Given the description of an element on the screen output the (x, y) to click on. 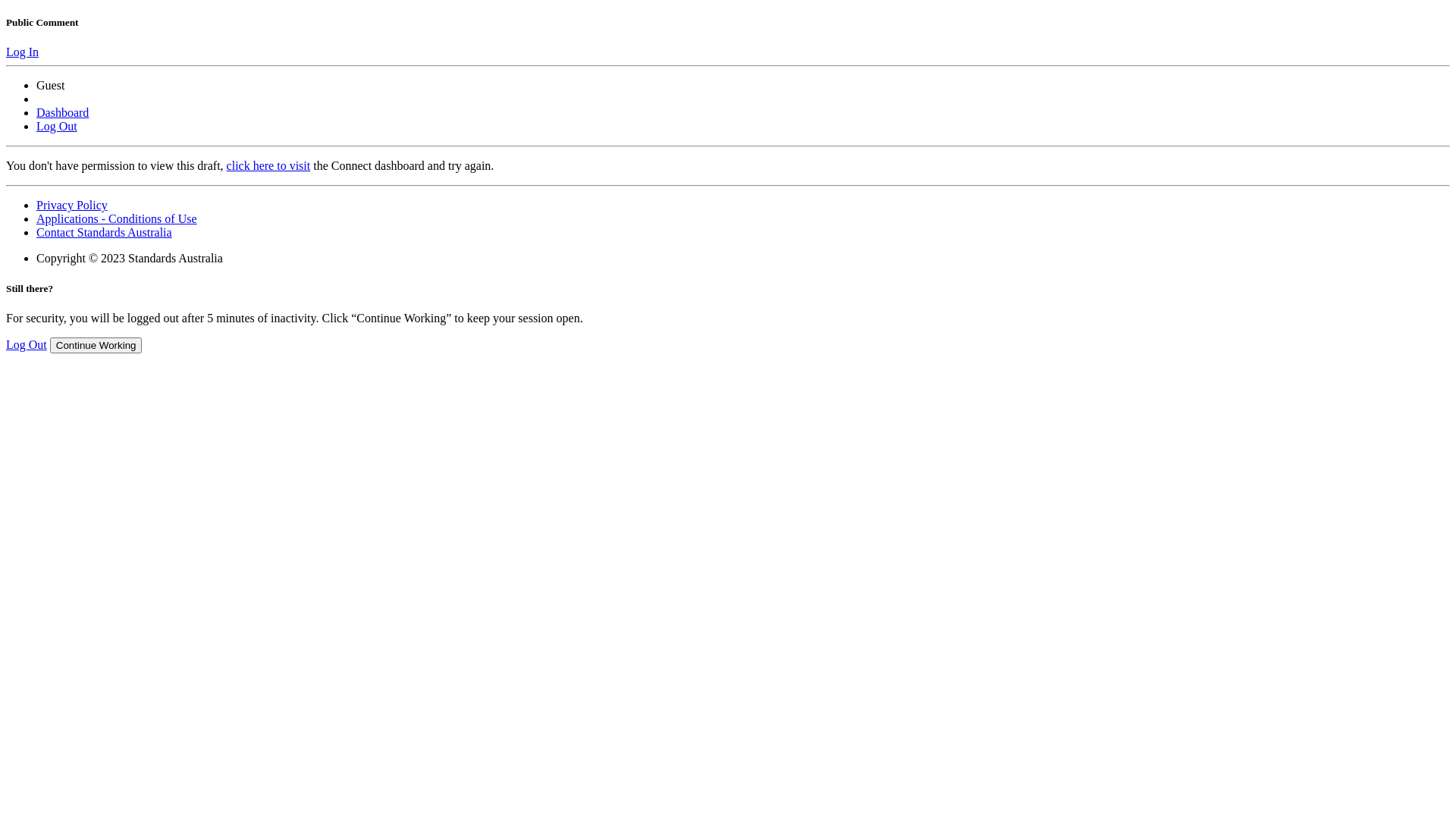
Contact Standards Australia Element type: text (104, 231)
Privacy Policy Element type: text (71, 204)
Continue Working Element type: text (96, 345)
Log Out Element type: text (26, 344)
Applications - Conditions of Use Element type: text (116, 218)
Dashboard Element type: text (62, 112)
Log Out Element type: text (56, 125)
click here to visit Element type: text (268, 165)
Log In Element type: text (22, 51)
